Given the description of an element on the screen output the (x, y) to click on. 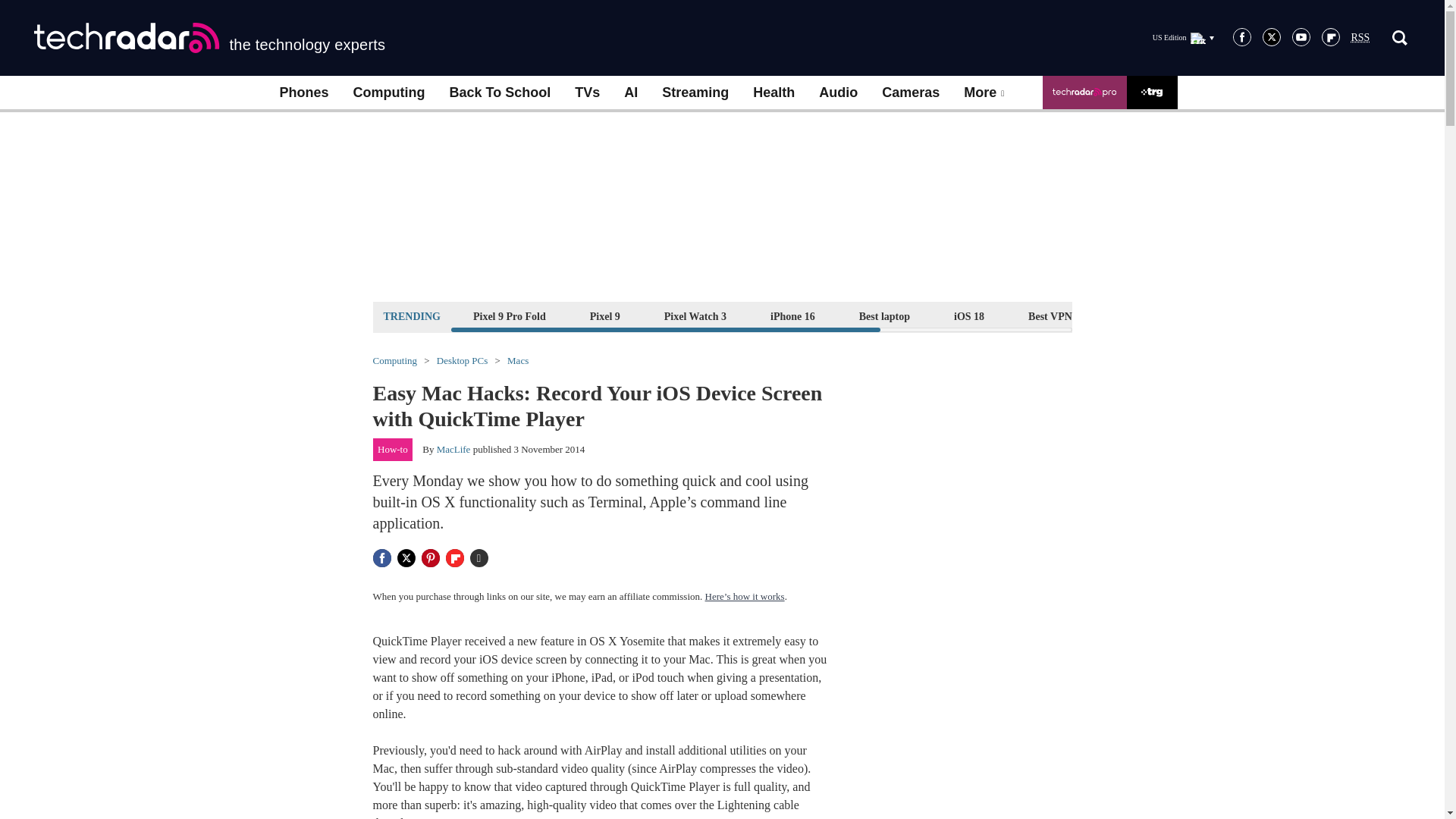
Really Simple Syndication (1360, 37)
US Edition (1182, 37)
Computing (389, 92)
Cameras (910, 92)
Audio (837, 92)
Health (773, 92)
Phones (303, 92)
Back To School (499, 92)
Streaming (695, 92)
AI (630, 92)
